Given the description of an element on the screen output the (x, y) to click on. 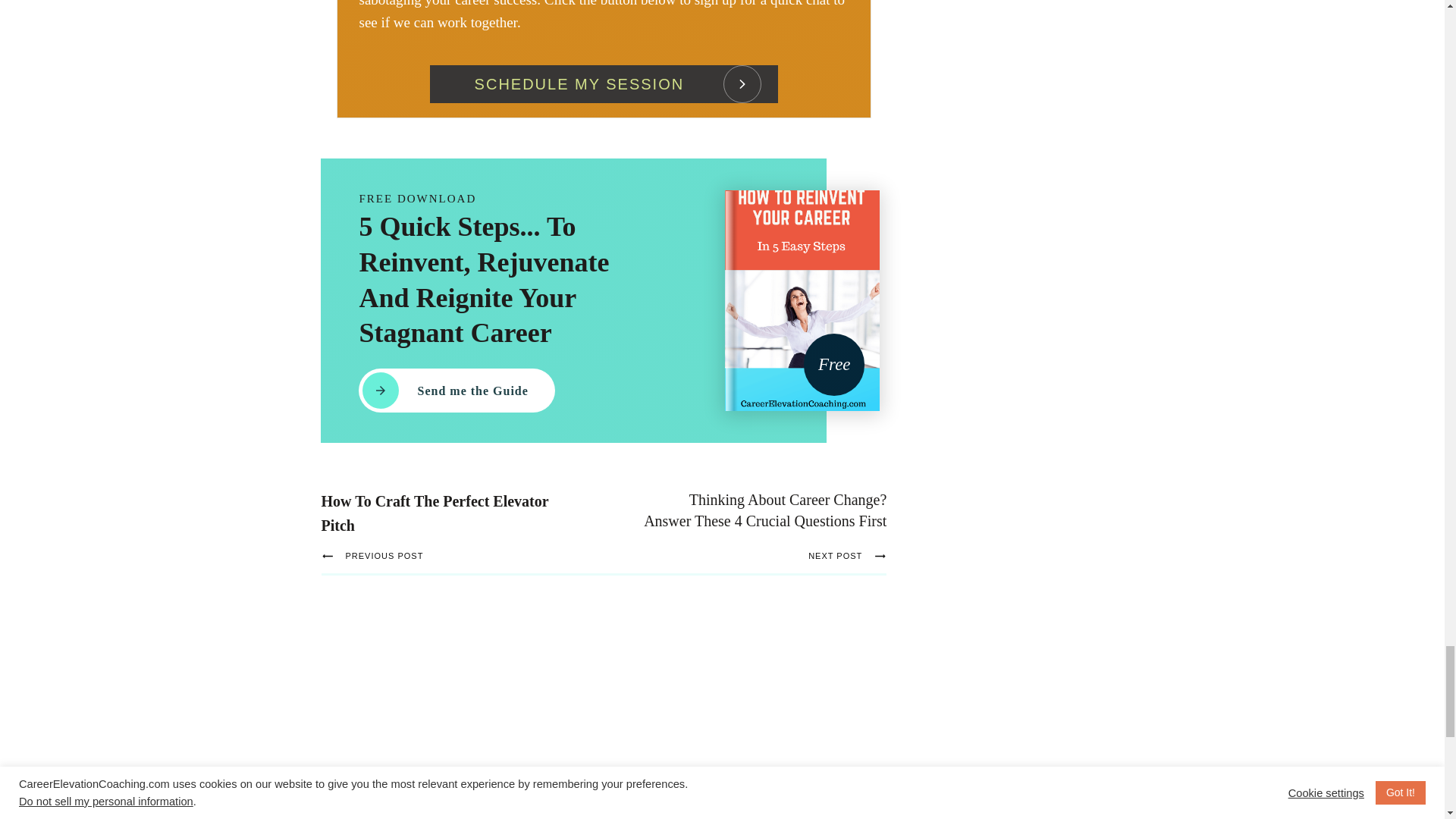
NEXT POST (750, 556)
Send me the Guide (456, 390)
How To Craft The Perfect Elevator Pitch (434, 513)
PREVIOUS POST (468, 556)
SCHEDULE MY SESSION (603, 84)
